Given the description of an element on the screen output the (x, y) to click on. 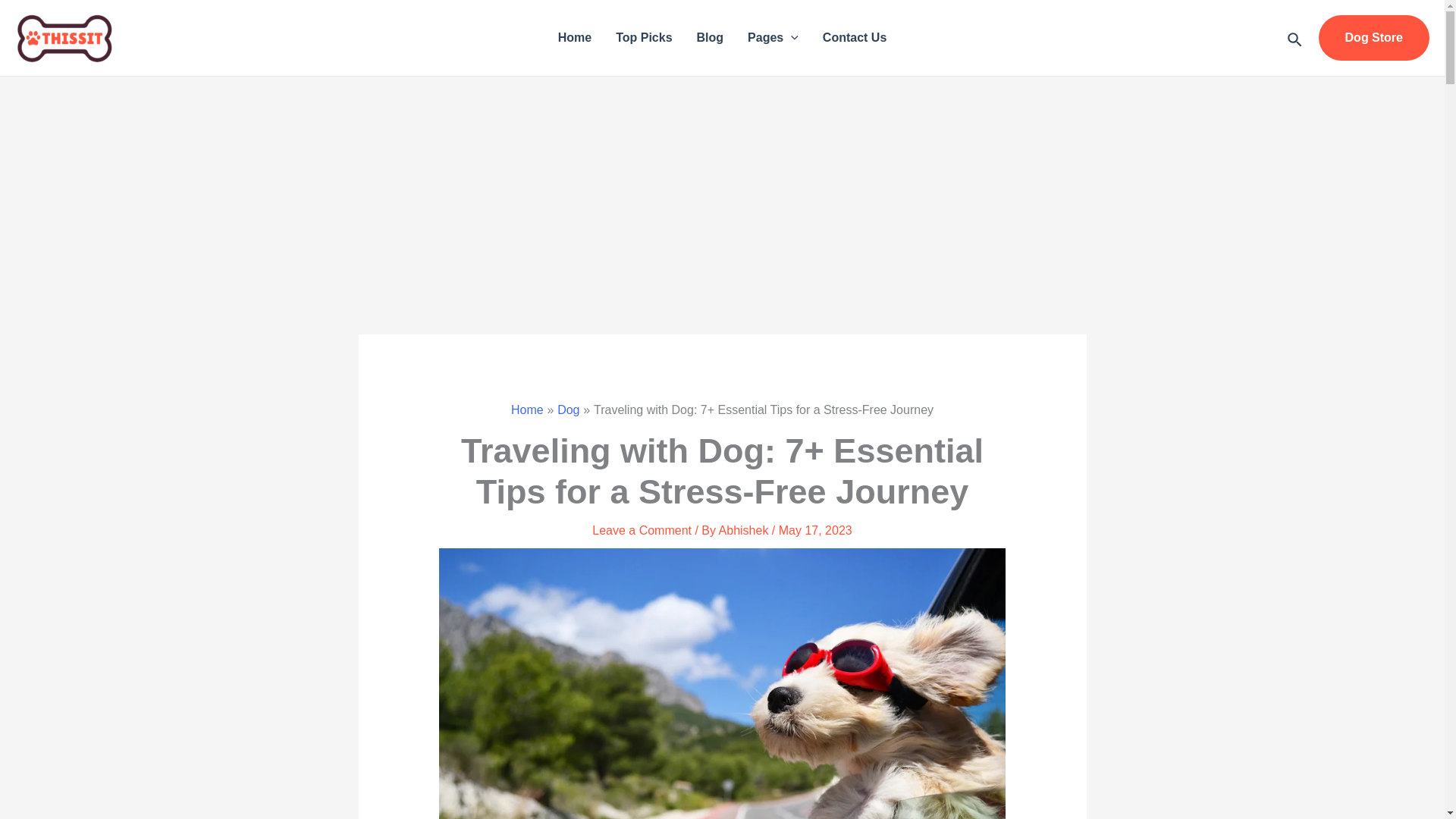
Leave a Comment (641, 530)
Abhishek (745, 530)
Home (527, 409)
View all posts by Abhishek (745, 530)
Pages (772, 37)
Contact Us (854, 37)
Dog (568, 409)
Dog Store (1374, 37)
Blog (710, 37)
Top Picks (644, 37)
Home (575, 37)
